Given the description of an element on the screen output the (x, y) to click on. 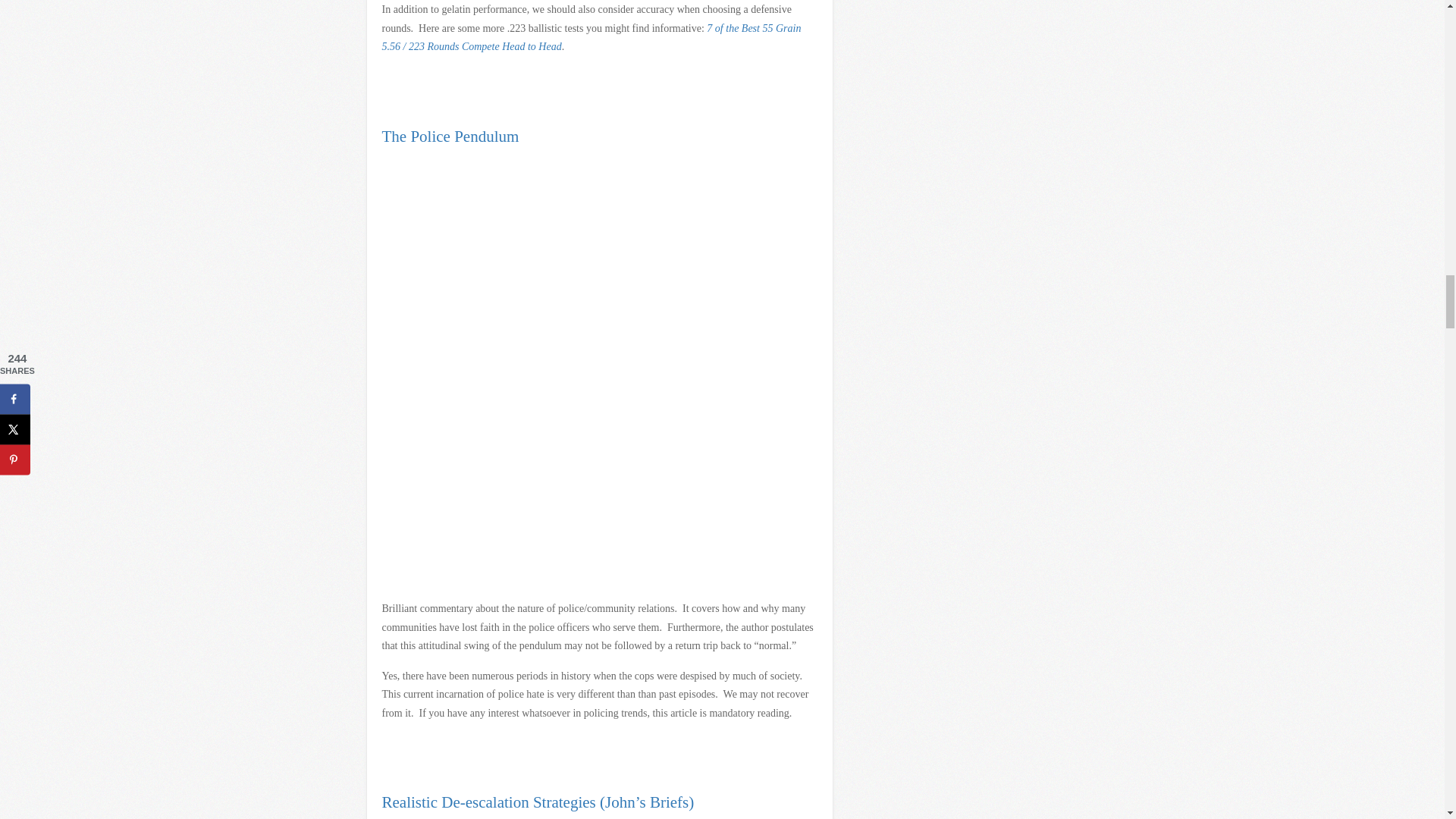
The Police Pendulum (450, 136)
